Given the description of an element on the screen output the (x, y) to click on. 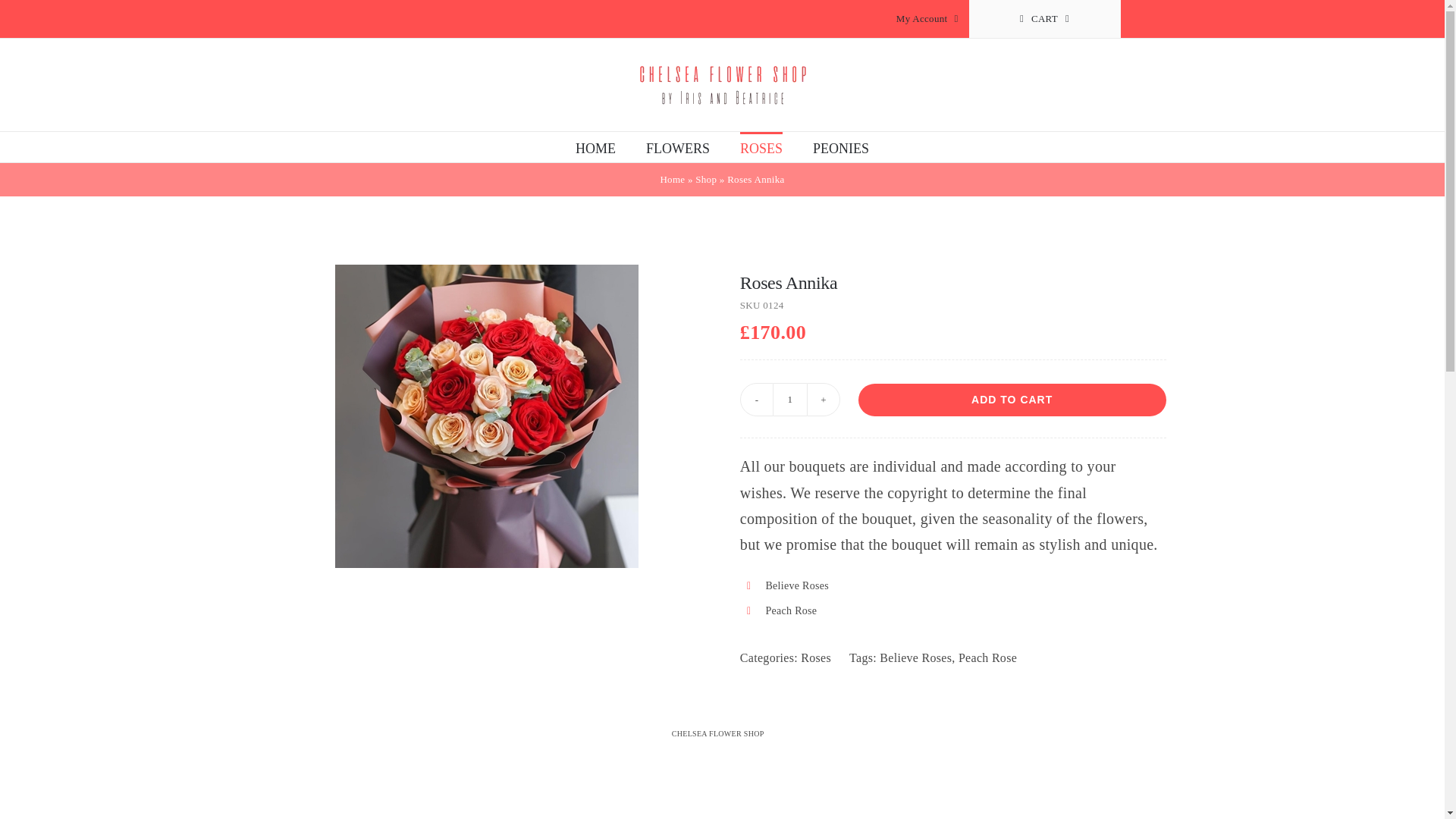
roses-annika (486, 416)
FLOWERS (678, 146)
ROSES (761, 146)
Roses (815, 657)
Peach Rose (987, 657)
CART (1045, 18)
1 (789, 399)
Believe Roses (915, 657)
My Account (927, 18)
ADD TO CART (1012, 400)
